Given the description of an element on the screen output the (x, y) to click on. 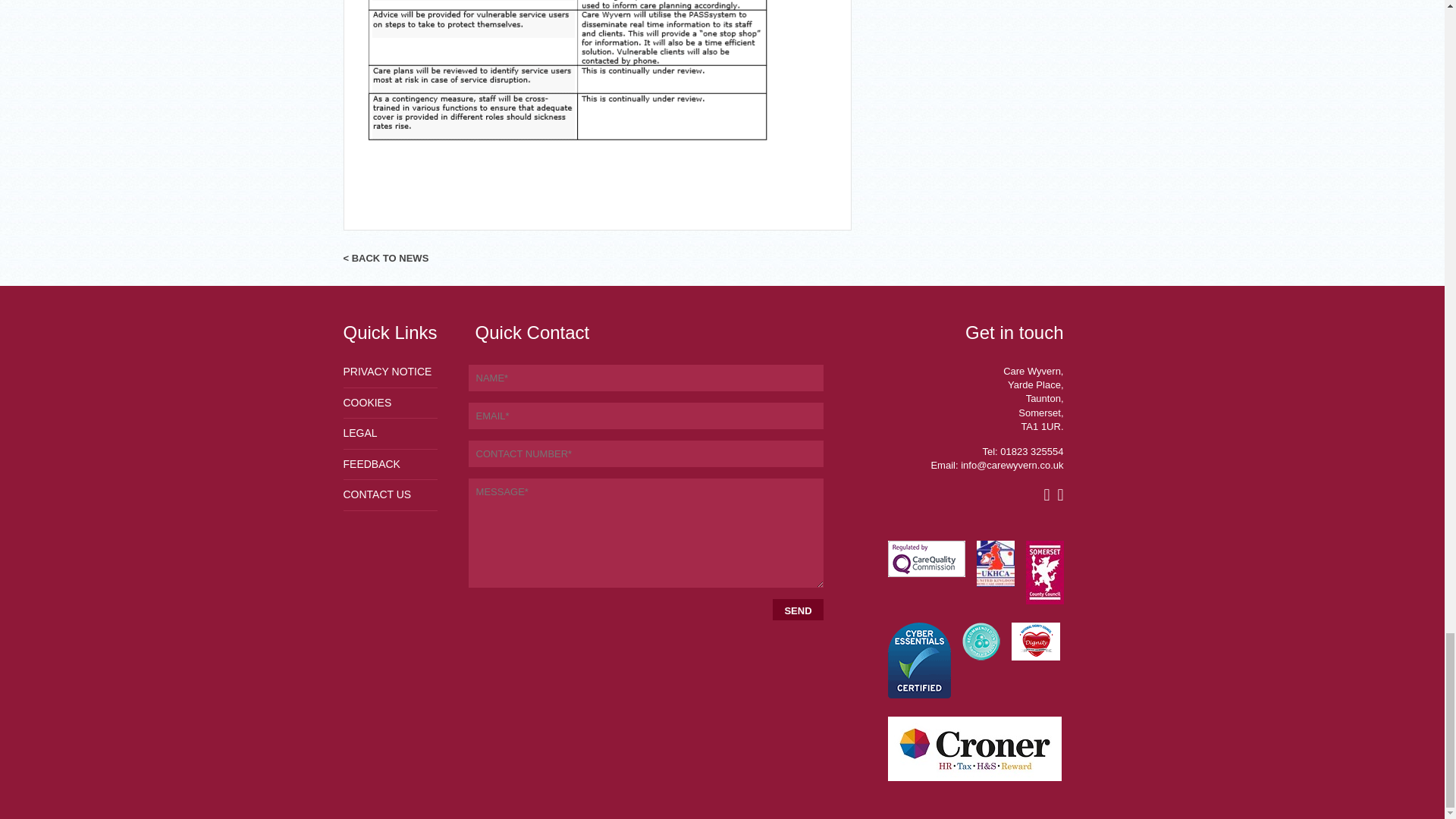
SEND (797, 608)
